Given the description of an element on the screen output the (x, y) to click on. 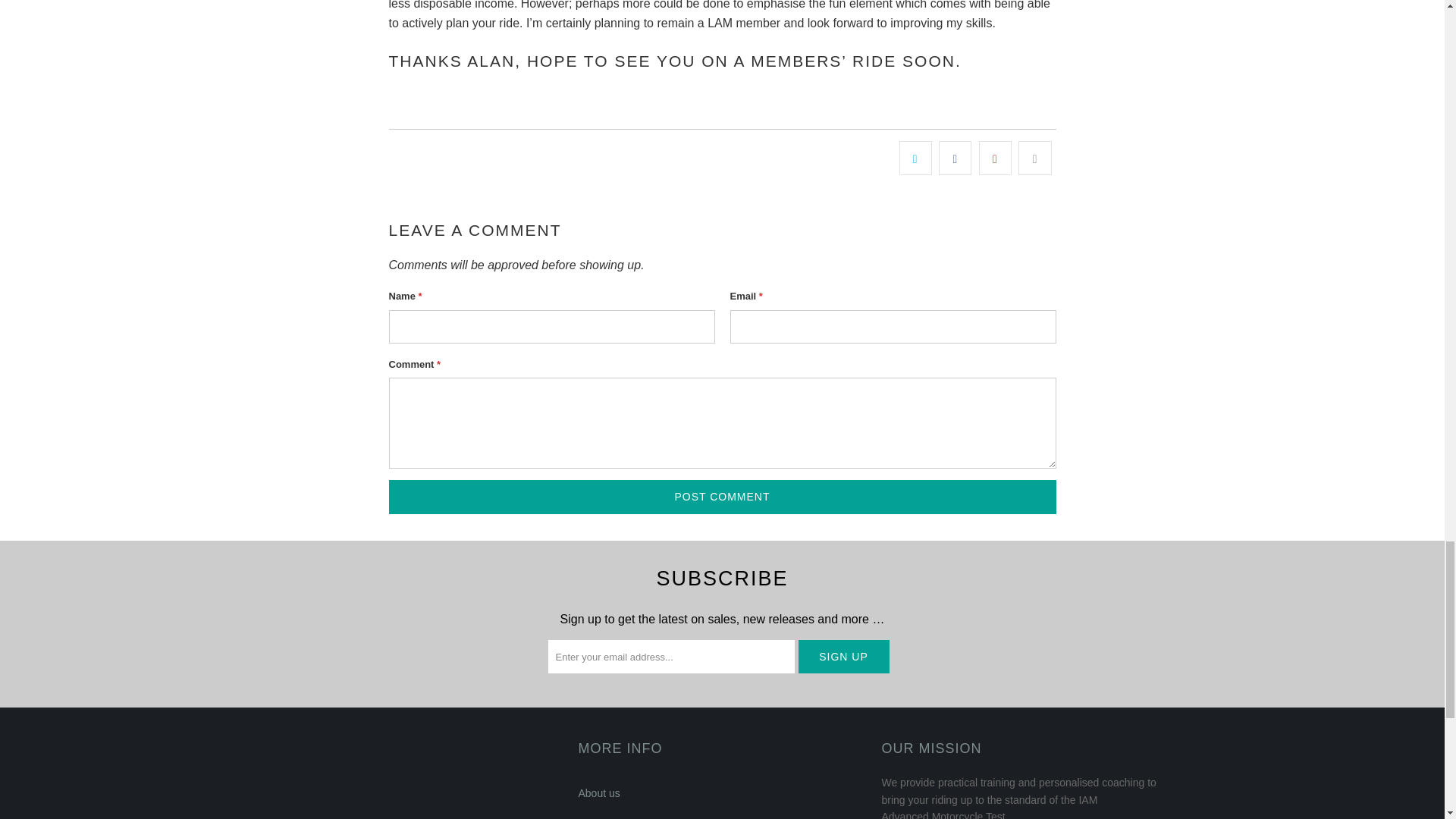
Share this on Facebook (955, 158)
Post comment (721, 496)
Email this to a friend (1034, 158)
Share this on Pinterest (994, 158)
Share this on Twitter (915, 158)
Sign Up (842, 656)
